Given the description of an element on the screen output the (x, y) to click on. 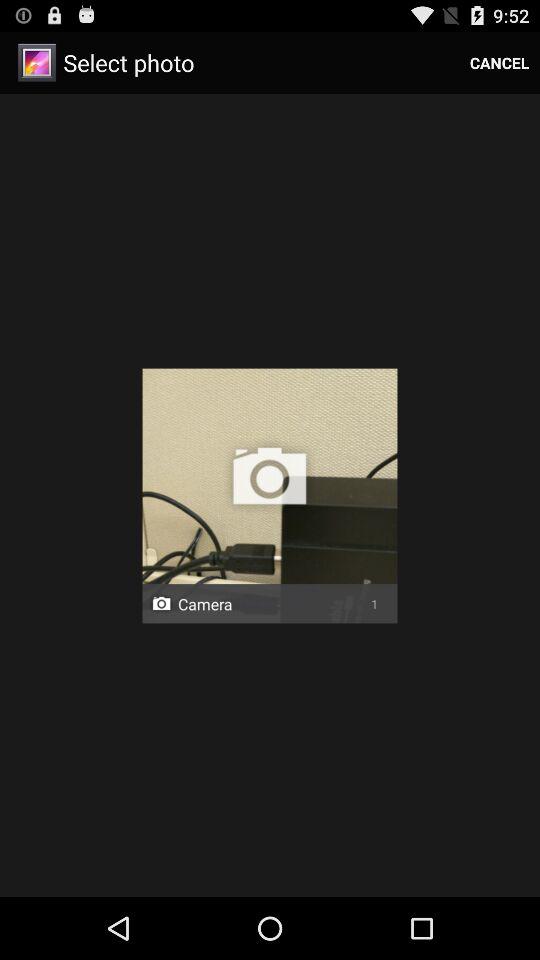
select the cancel (499, 62)
